Given the description of an element on the screen output the (x, y) to click on. 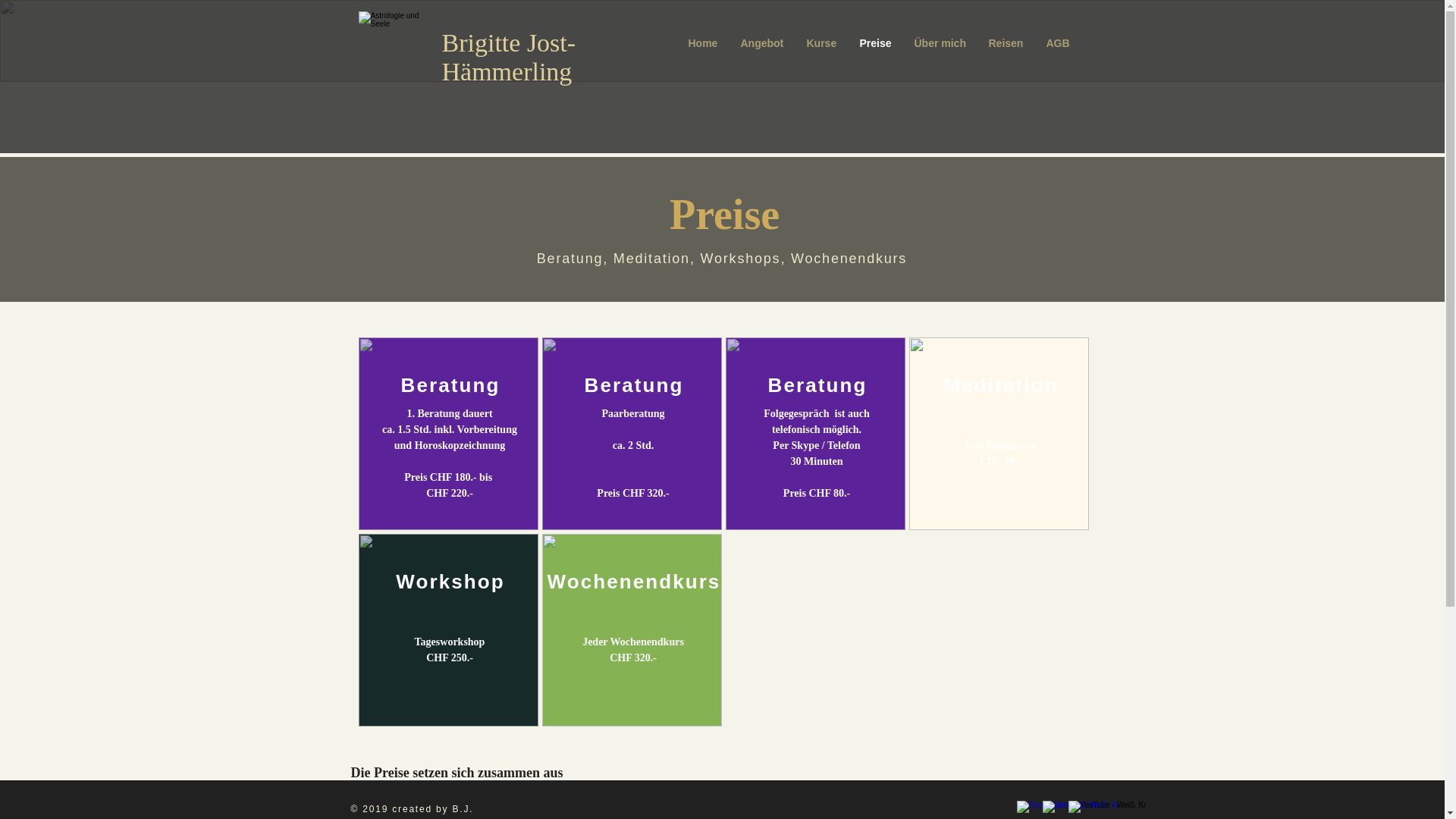
Preise Element type: text (874, 43)
Angebot Element type: text (762, 43)
Home Element type: text (702, 43)
AGB Element type: text (1057, 43)
Kurse Element type: text (820, 43)
Logo Astrologie und Seele Element type: hover (392, 41)
Reisen Element type: text (1005, 43)
